Given the description of an element on the screen output the (x, y) to click on. 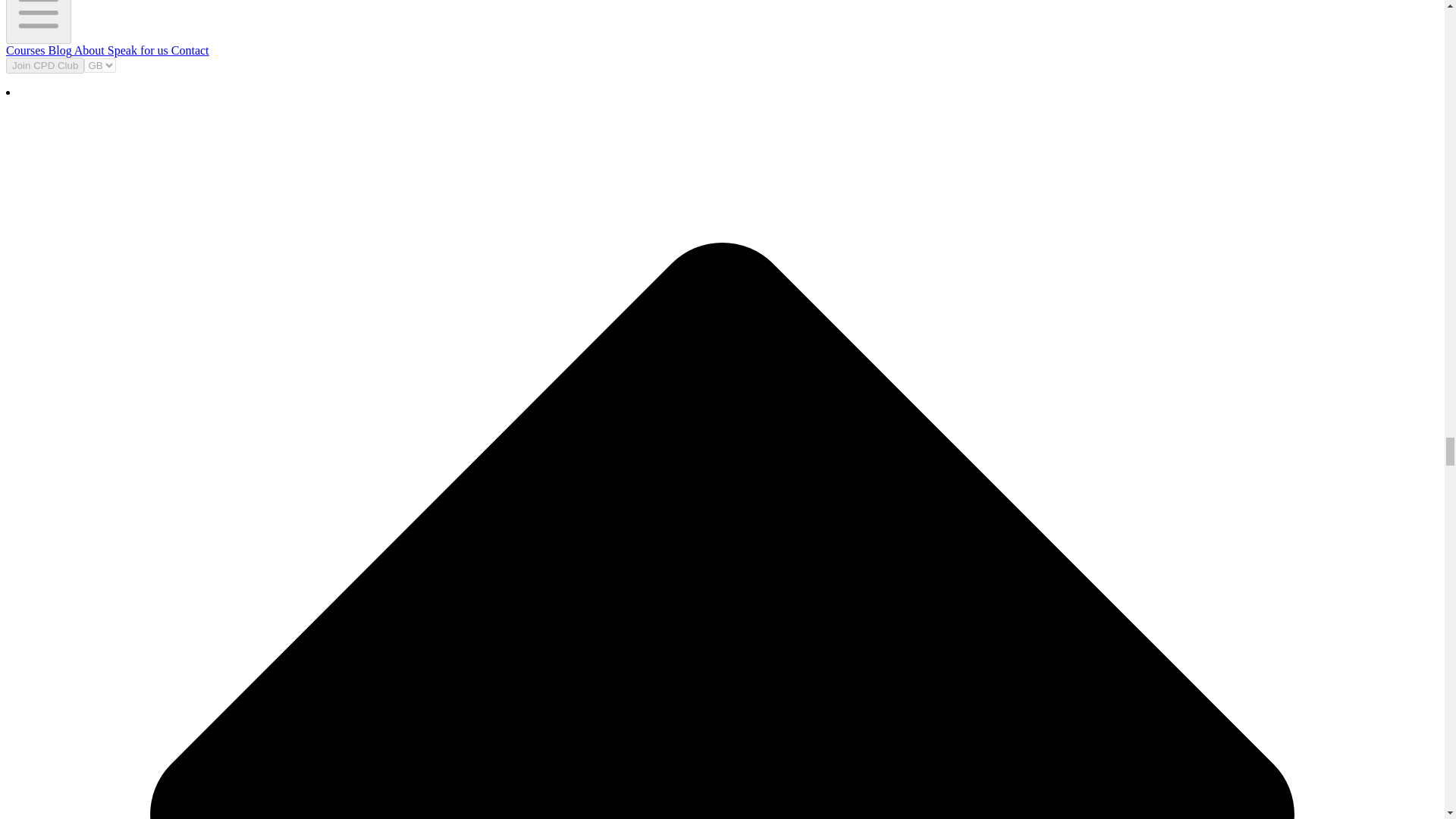
Blog (58, 50)
Courses (25, 50)
Contact (188, 50)
Join CPD Club (44, 65)
About (87, 50)
Speak for us (136, 50)
Open menu (38, 22)
Join CPD Club (44, 64)
